Given the description of an element on the screen output the (x, y) to click on. 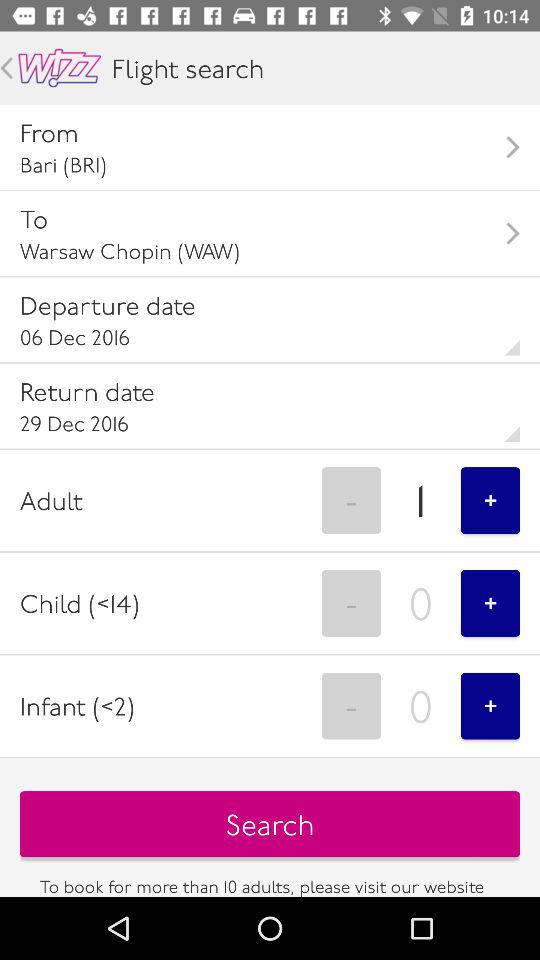
launch - item (351, 603)
